Given the description of an element on the screen output the (x, y) to click on. 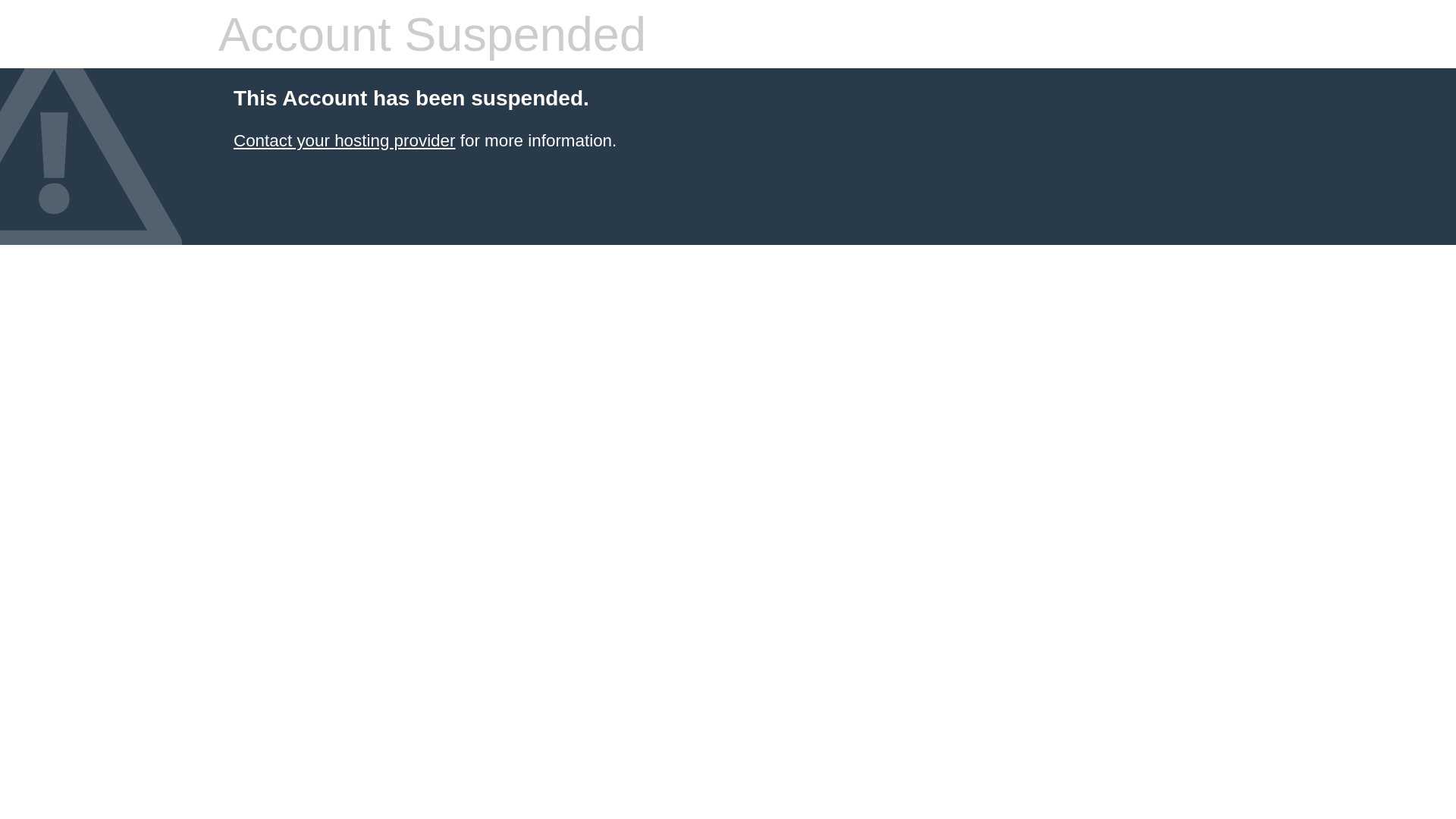
Contact your hosting provider Element type: text (344, 140)
